Given the description of an element on the screen output the (x, y) to click on. 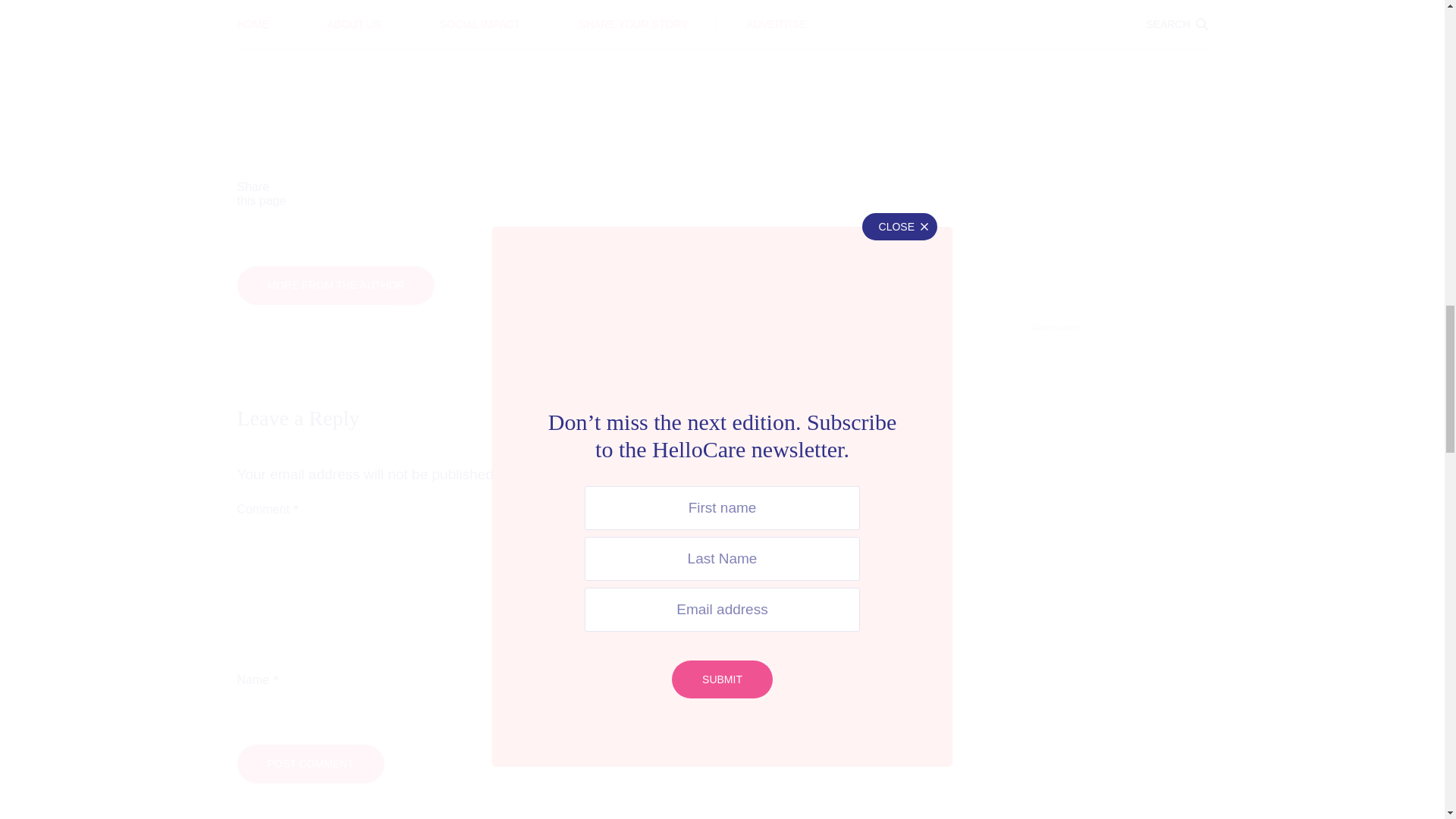
Share on linkedIn (652, 193)
Post Comment (309, 763)
Share on Facebook (372, 193)
Share via Email (792, 193)
Share on Twitter (512, 193)
